Given the description of an element on the screen output the (x, y) to click on. 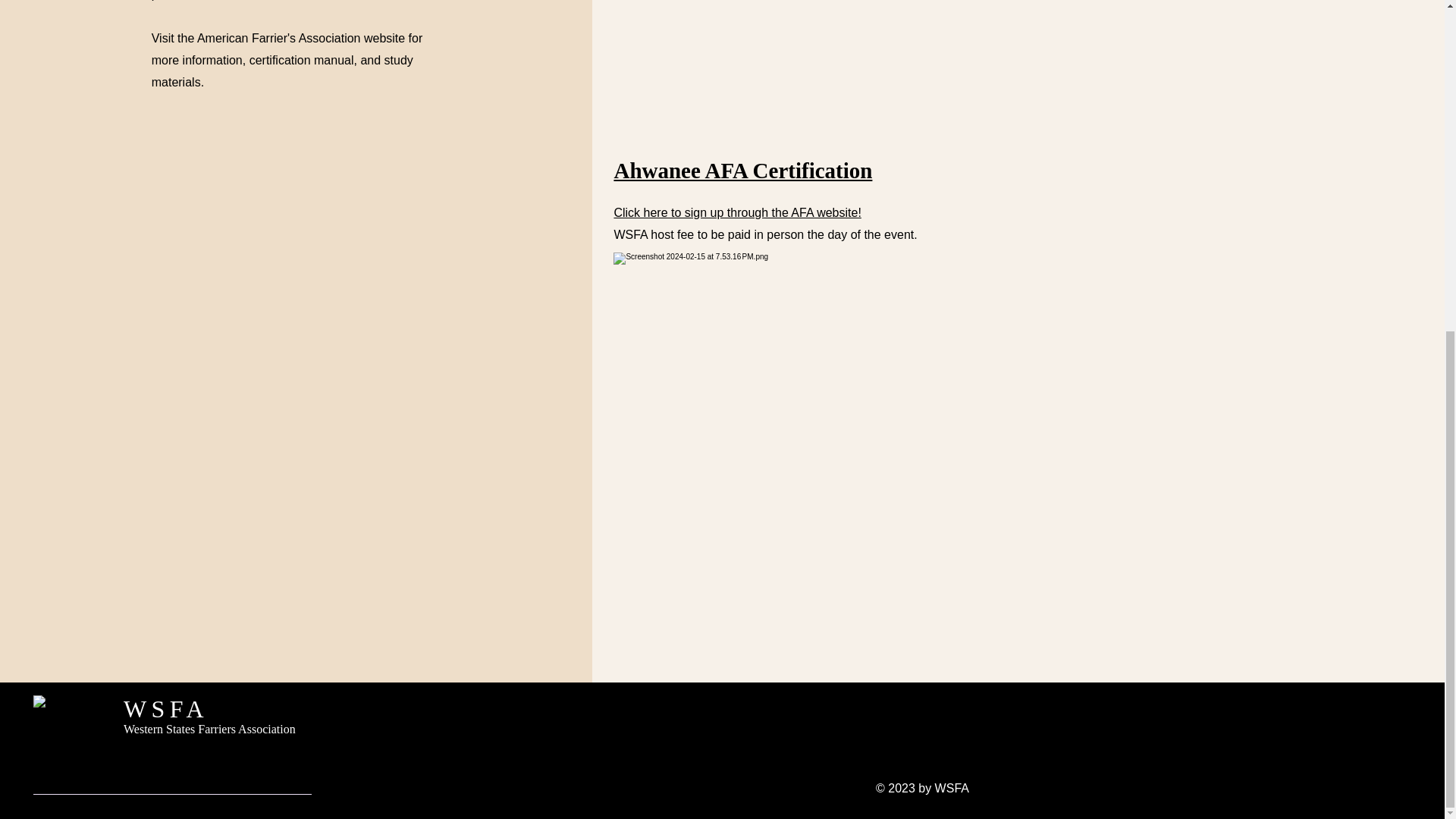
WSFA (165, 708)
Click here to sign up through the AFA website! (736, 212)
Western States Farriers Association (209, 728)
